Given the description of an element on the screen output the (x, y) to click on. 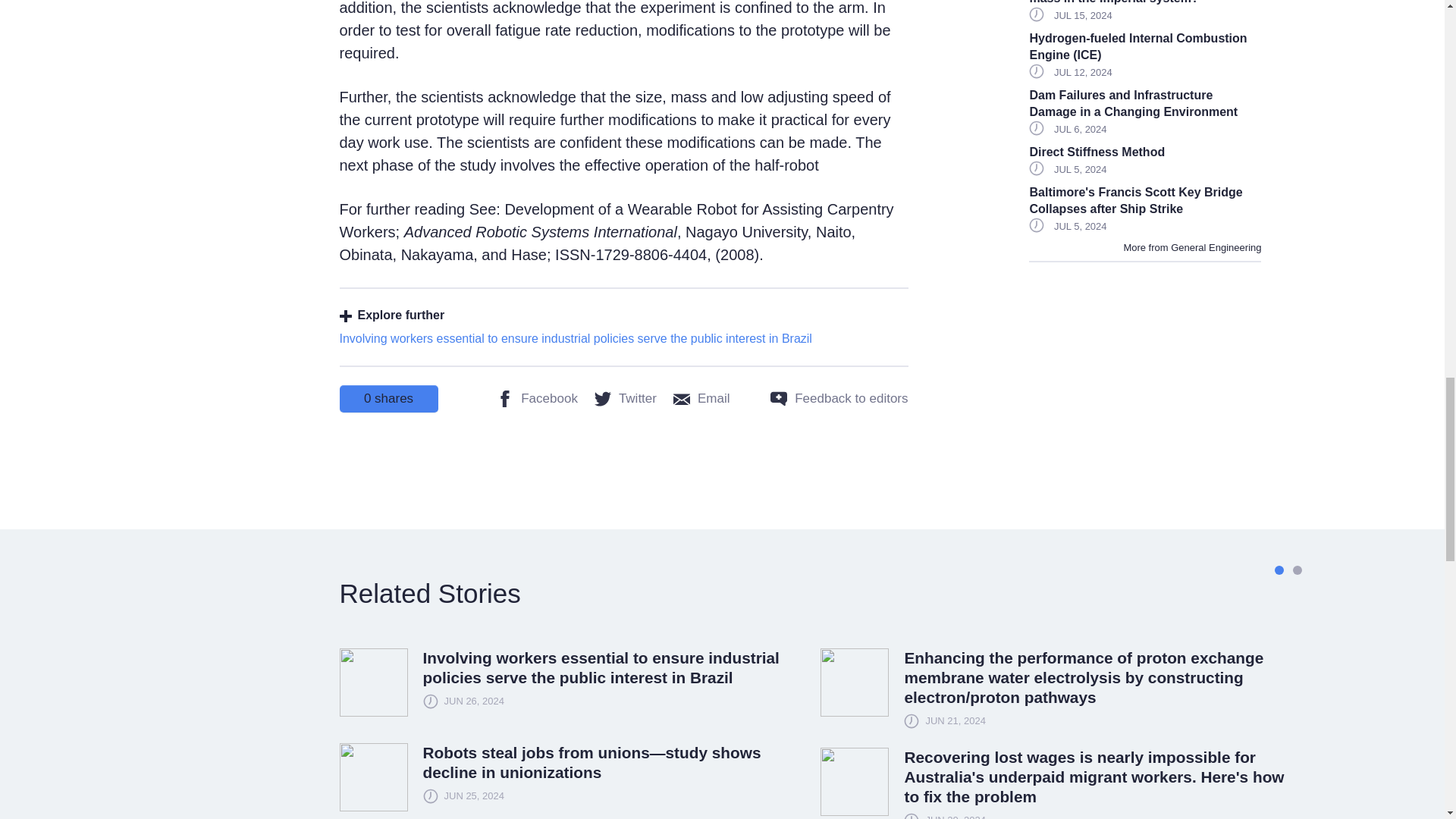
Facebook (537, 398)
0 shares (388, 398)
